Given the description of an element on the screen output the (x, y) to click on. 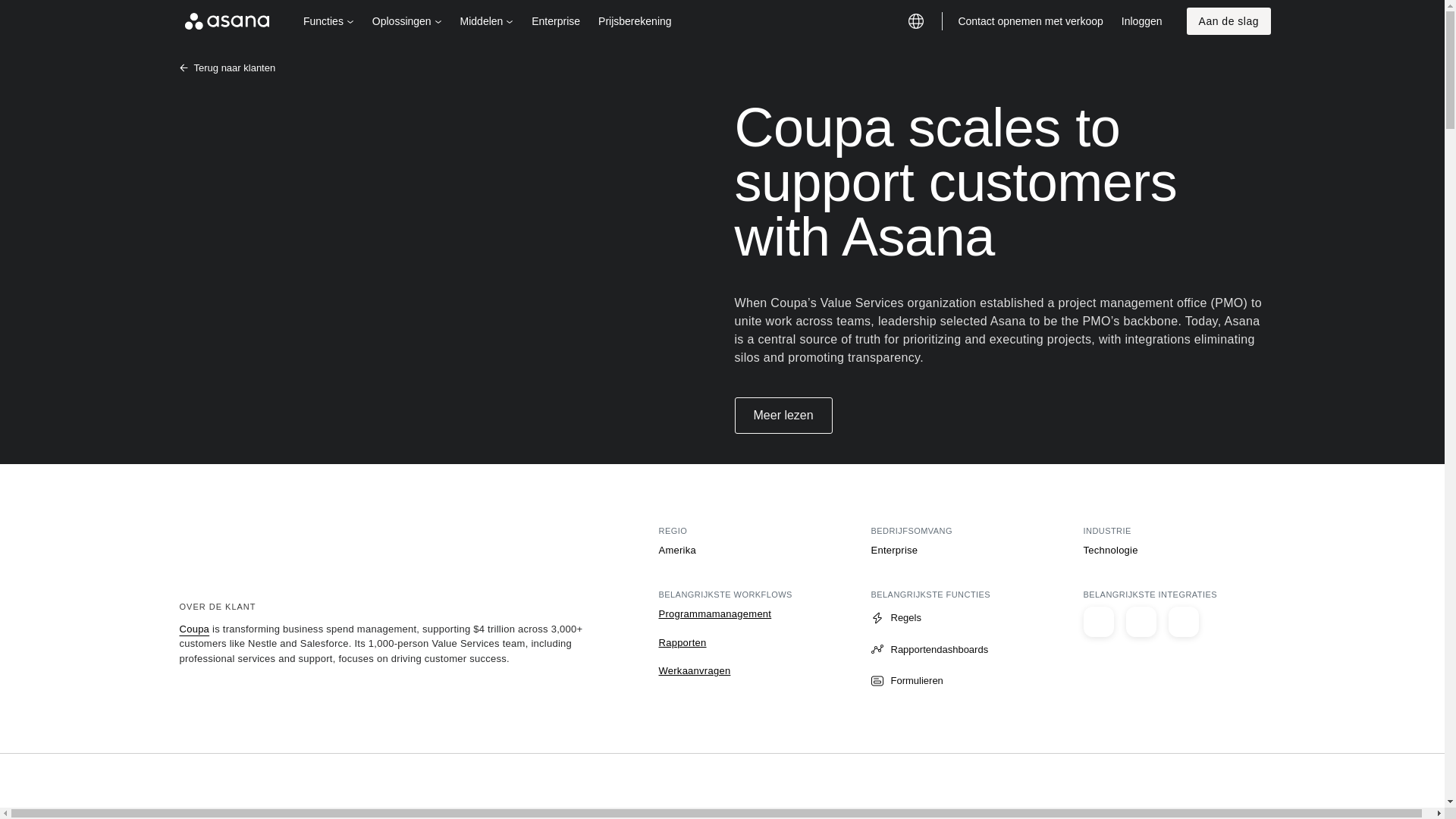
chevron-down icon (437, 21)
Middelen chevron-down icon (486, 21)
Contact opnemen met verkoop (1030, 21)
Aan de slag (1228, 21)
Prijsberekening (635, 21)
Enterprise (555, 21)
chevron-down icon (509, 21)
Functies chevron-down icon (328, 21)
Aan de slag (1228, 21)
Oplossingen chevron-down icon (406, 21)
